Given the description of an element on the screen output the (x, y) to click on. 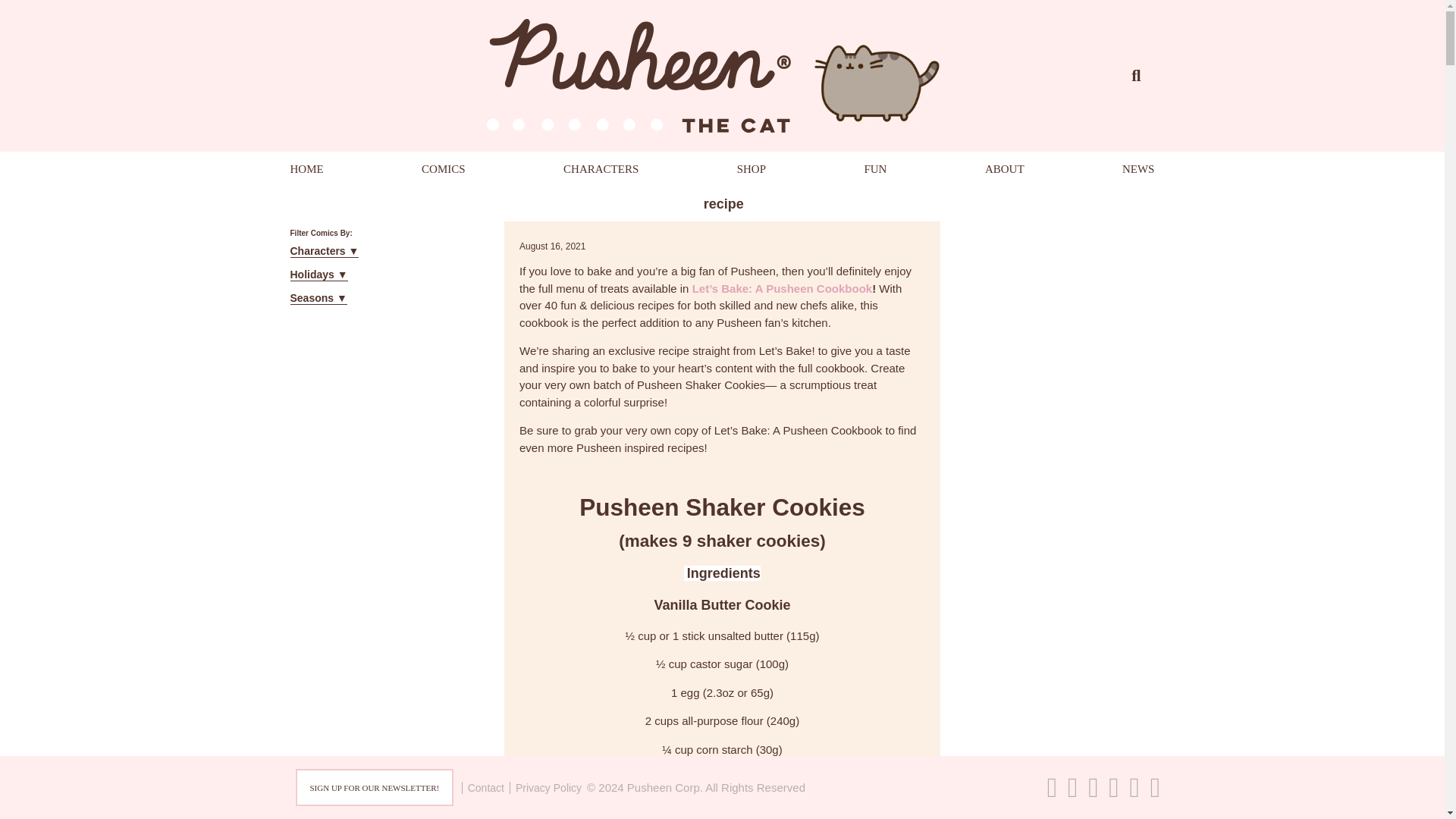
FUN (874, 168)
NEWS (1138, 168)
HOME (306, 168)
Explore Pusheen comics (443, 168)
COMICS (443, 168)
Return to home page (306, 168)
SHOP (750, 168)
Learn more about our characters (601, 168)
CHARACTERS (601, 168)
Visit Pusheen Shop (750, 168)
